Given the description of an element on the screen output the (x, y) to click on. 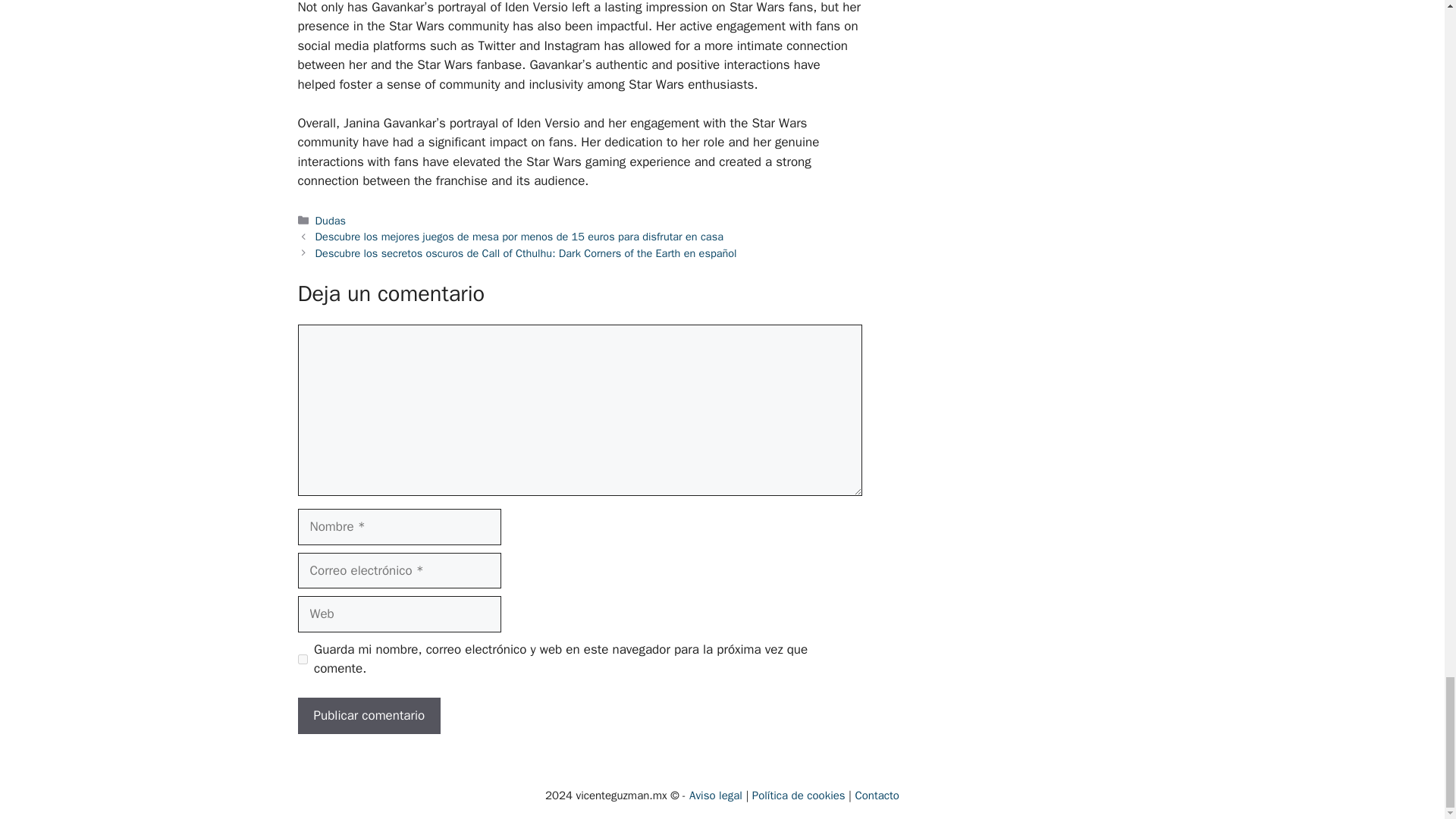
Dudas (330, 220)
Publicar comentario (369, 715)
Aviso legal (715, 795)
Contacto (877, 795)
Publicar comentario (369, 715)
yes (302, 659)
